Given the description of an element on the screen output the (x, y) to click on. 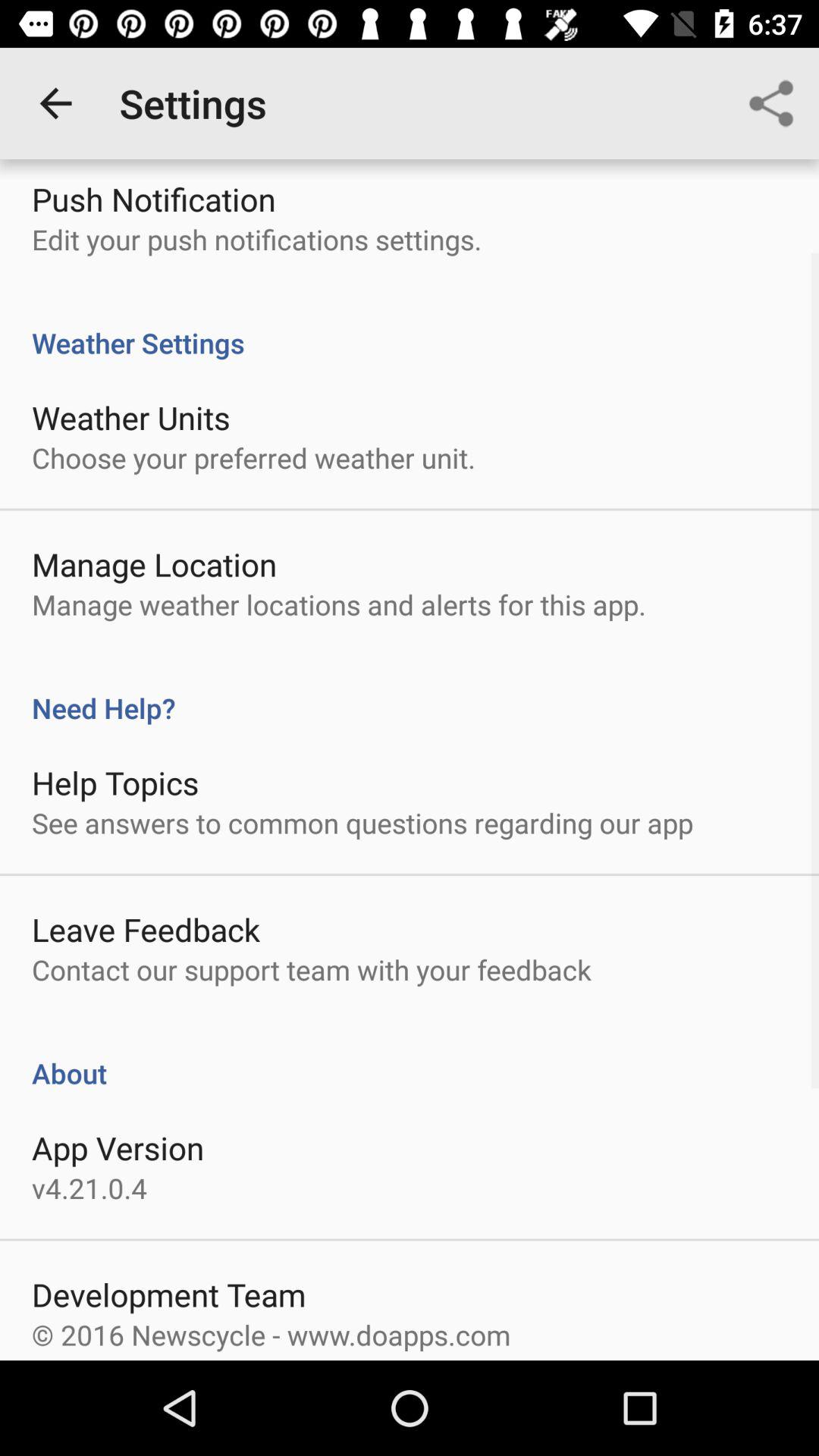
turn on item above the push notification item (55, 103)
